Given the description of an element on the screen output the (x, y) to click on. 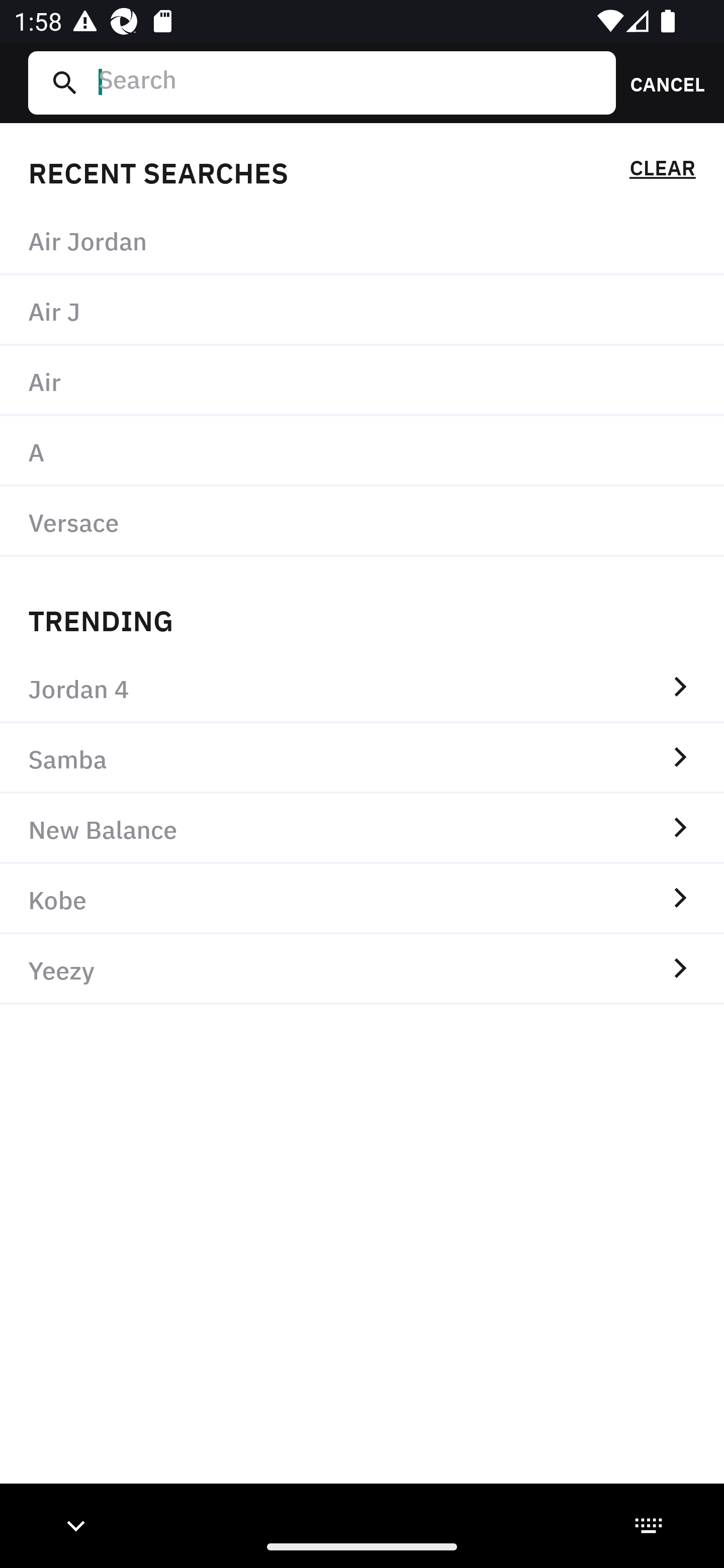
CANCEL (660, 82)
Search (349, 82)
CLEAR (662, 170)
Air Jordan (362, 240)
Air J (362, 310)
Air  (362, 380)
A (362, 450)
Versace (362, 521)
Jordan 4  (362, 687)
Samba  (362, 757)
New Balance  (362, 828)
Kobe  (362, 898)
Yeezy  (362, 969)
